Given the description of an element on the screen output the (x, y) to click on. 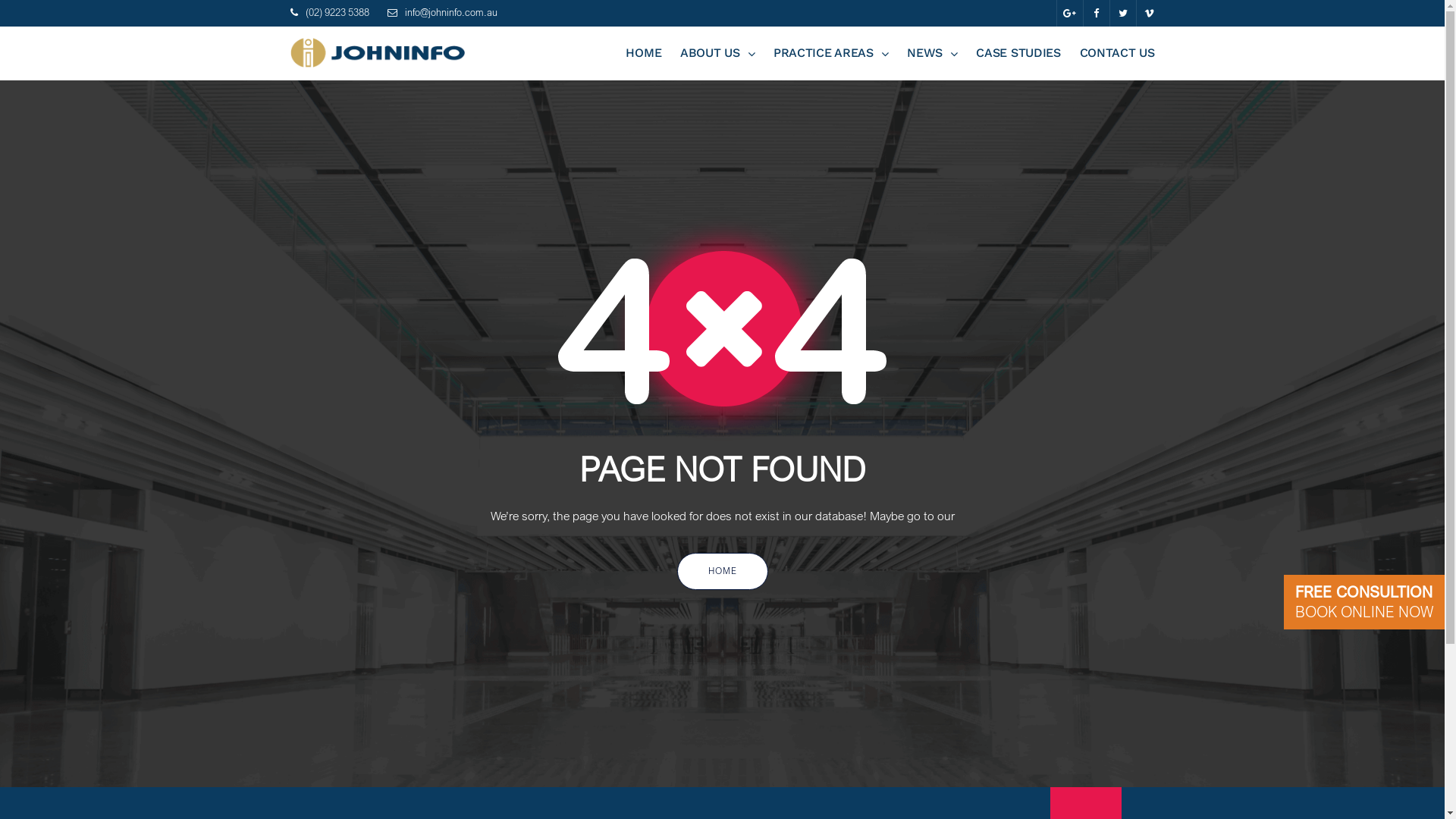
NEWS Element type: text (931, 53)
ABOUT US Element type: text (717, 53)
info@johninfo.com.au Element type: text (450, 12)
CASE STUDIES Element type: text (1017, 52)
CONTACT US Element type: text (1116, 52)
HOME Element type: text (643, 52)
FREE CONSULTION
BOOK ONLINE NOW Element type: text (1364, 601)
PRACTICE AREAS Element type: text (830, 53)
HOME Element type: text (721, 570)
(02) 9223 5388 Element type: text (336, 12)
